Given the description of an element on the screen output the (x, y) to click on. 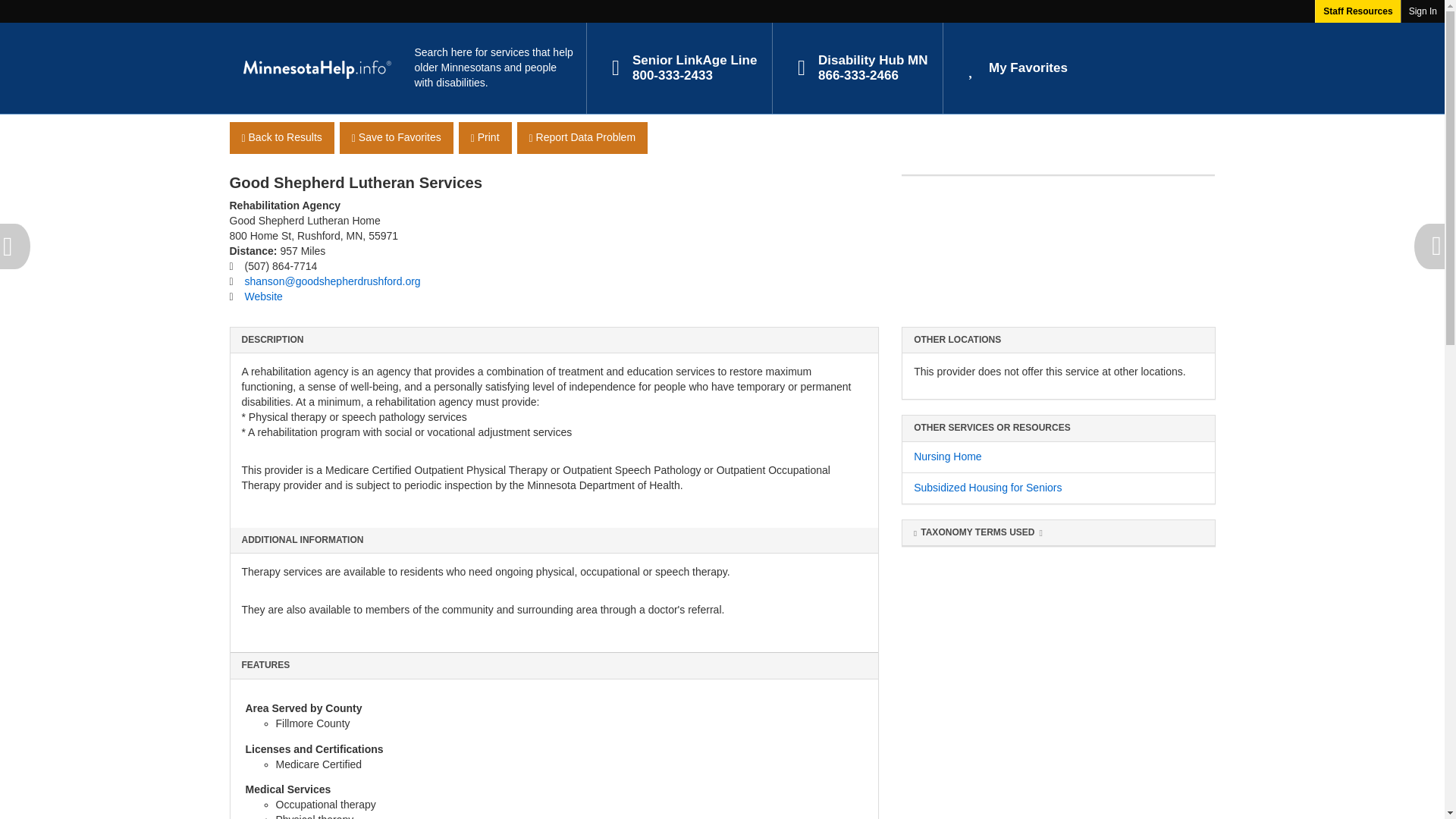
 Back to Results (678, 67)
 Report Data Problem (280, 137)
 Save to Favorites (581, 137)
Website (857, 67)
Nursing Home (395, 137)
 Print (263, 296)
Subsidized Housing for Seniors (1012, 67)
Staff Resources (947, 456)
